Given the description of an element on the screen output the (x, y) to click on. 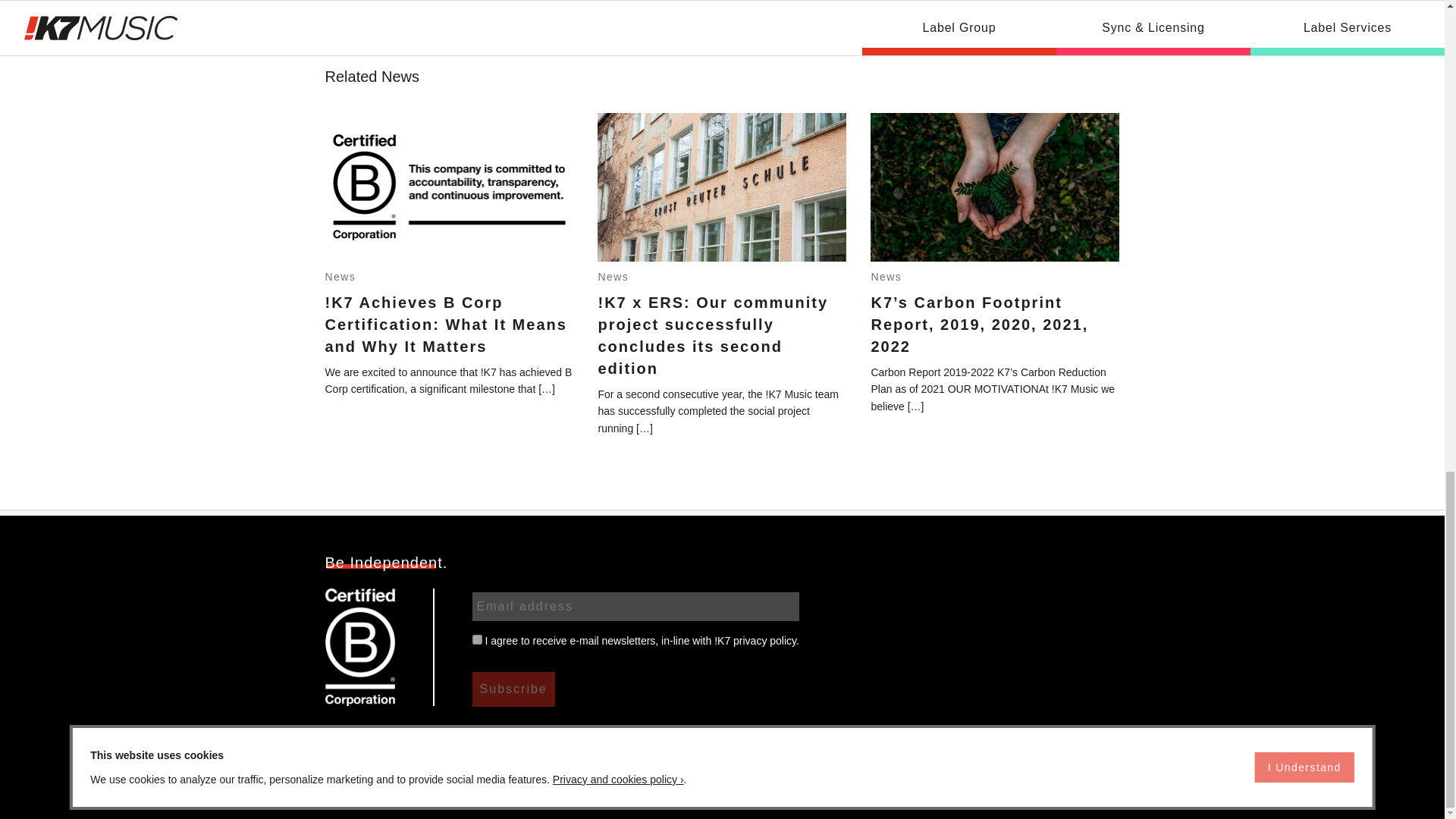
News (339, 276)
Soul Bank (690, 748)
Privacy Policy DE (981, 787)
7K! (629, 748)
Subscribe (512, 688)
Carbon Report 2019-2022 (812, 748)
News (612, 276)
News (885, 276)
Instagram (416, 748)
Privacy Policy EN (1077, 787)
Impressum (898, 787)
Strut (582, 748)
!K7 (536, 748)
